Given the description of an element on the screen output the (x, y) to click on. 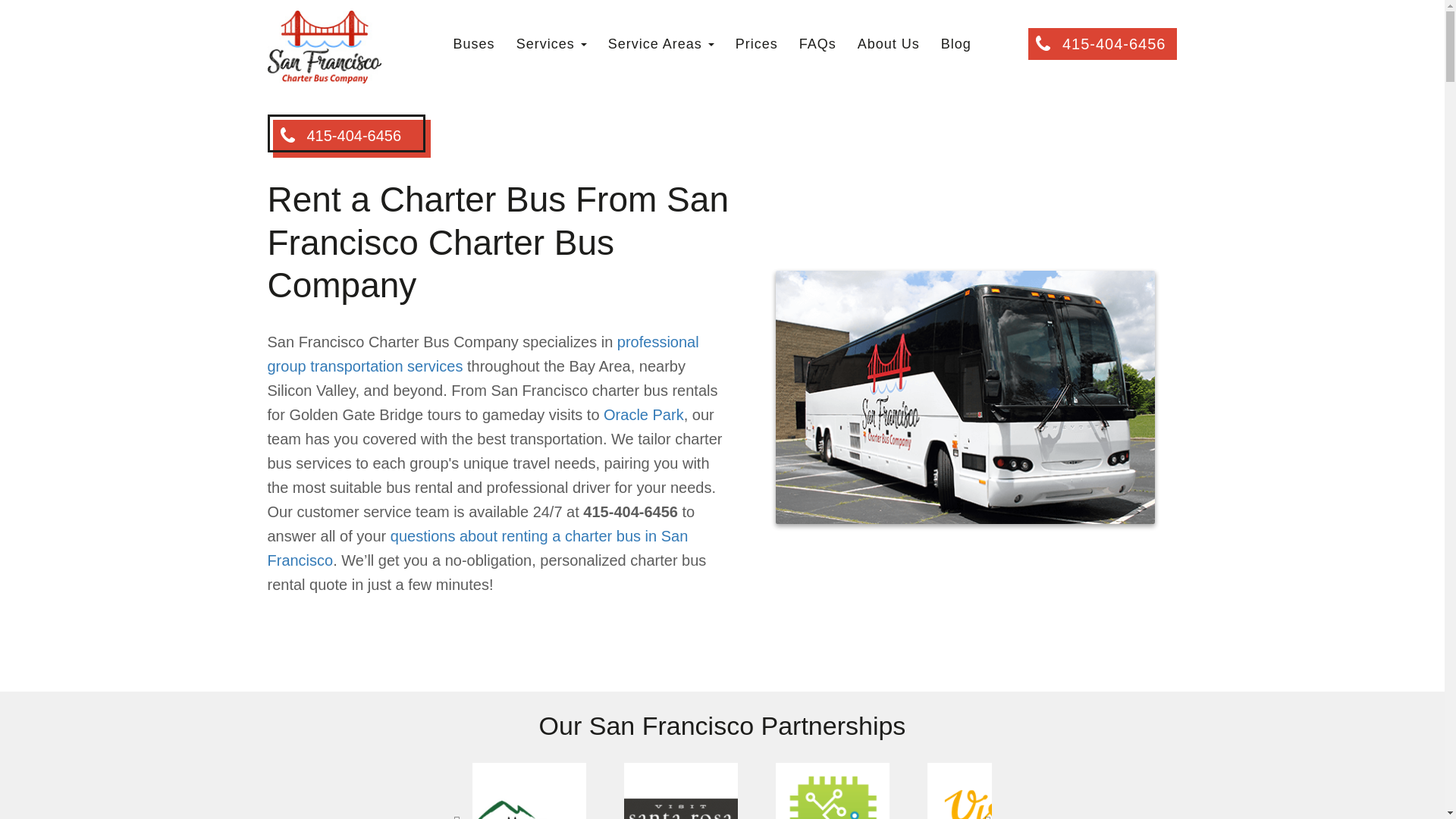
415-404-6456 (1102, 43)
Blog (956, 43)
Services (551, 43)
About Us (888, 43)
FAQs (817, 43)
Buses (474, 43)
Service Areas (660, 43)
Prices (756, 43)
